Given the description of an element on the screen output the (x, y) to click on. 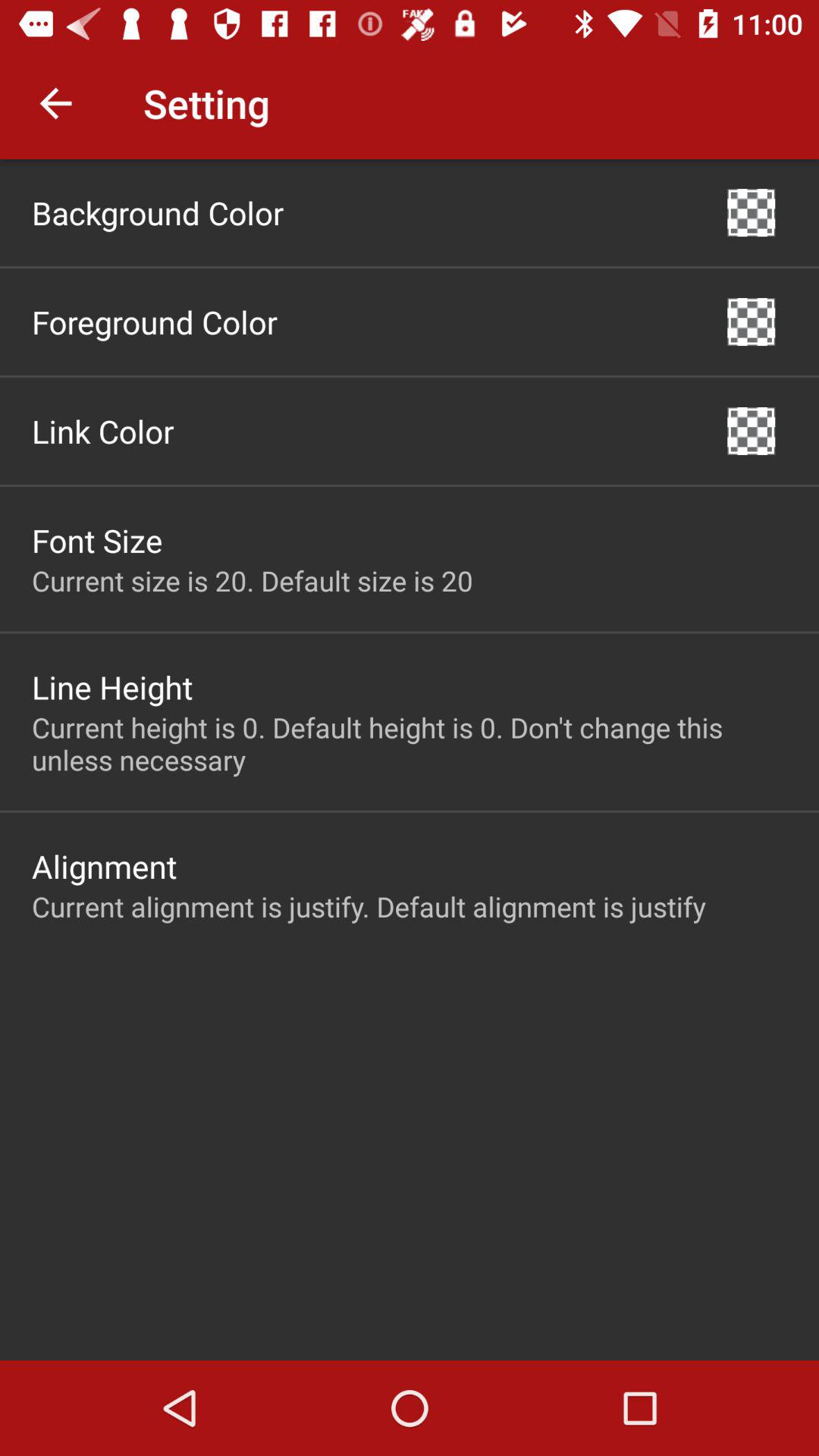
click icon below the current size is item (111, 686)
